Given the description of an element on the screen output the (x, y) to click on. 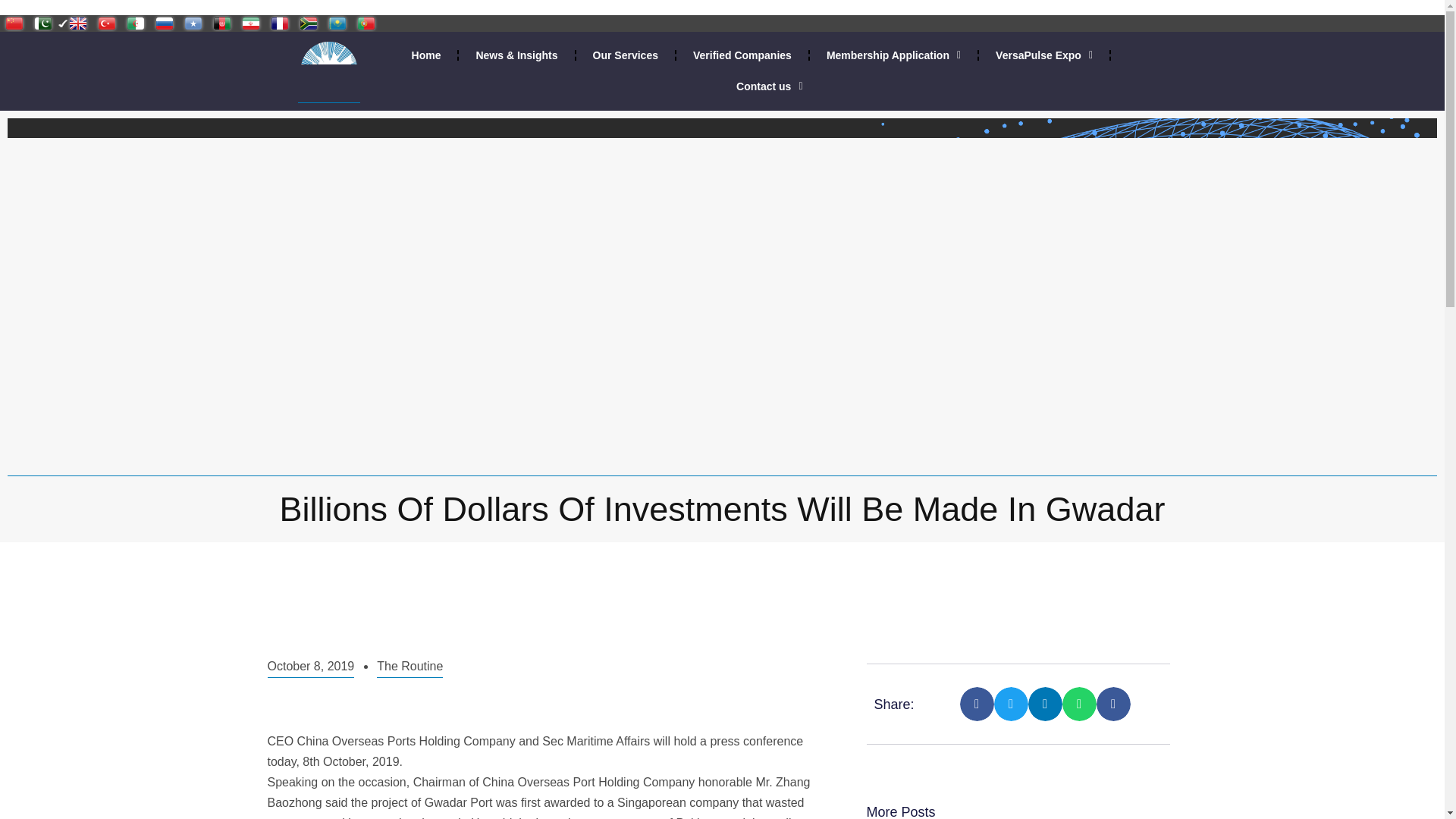
Kiswahili (193, 23)
English (75, 23)
Pashto (221, 23)
Kazakh (337, 23)
Home (426, 55)
VersaPulse Expo (1044, 55)
Our Services (625, 55)
October 8, 2019 (309, 666)
Contact us (769, 86)
The Routine (409, 666)
